Given the description of an element on the screen output the (x, y) to click on. 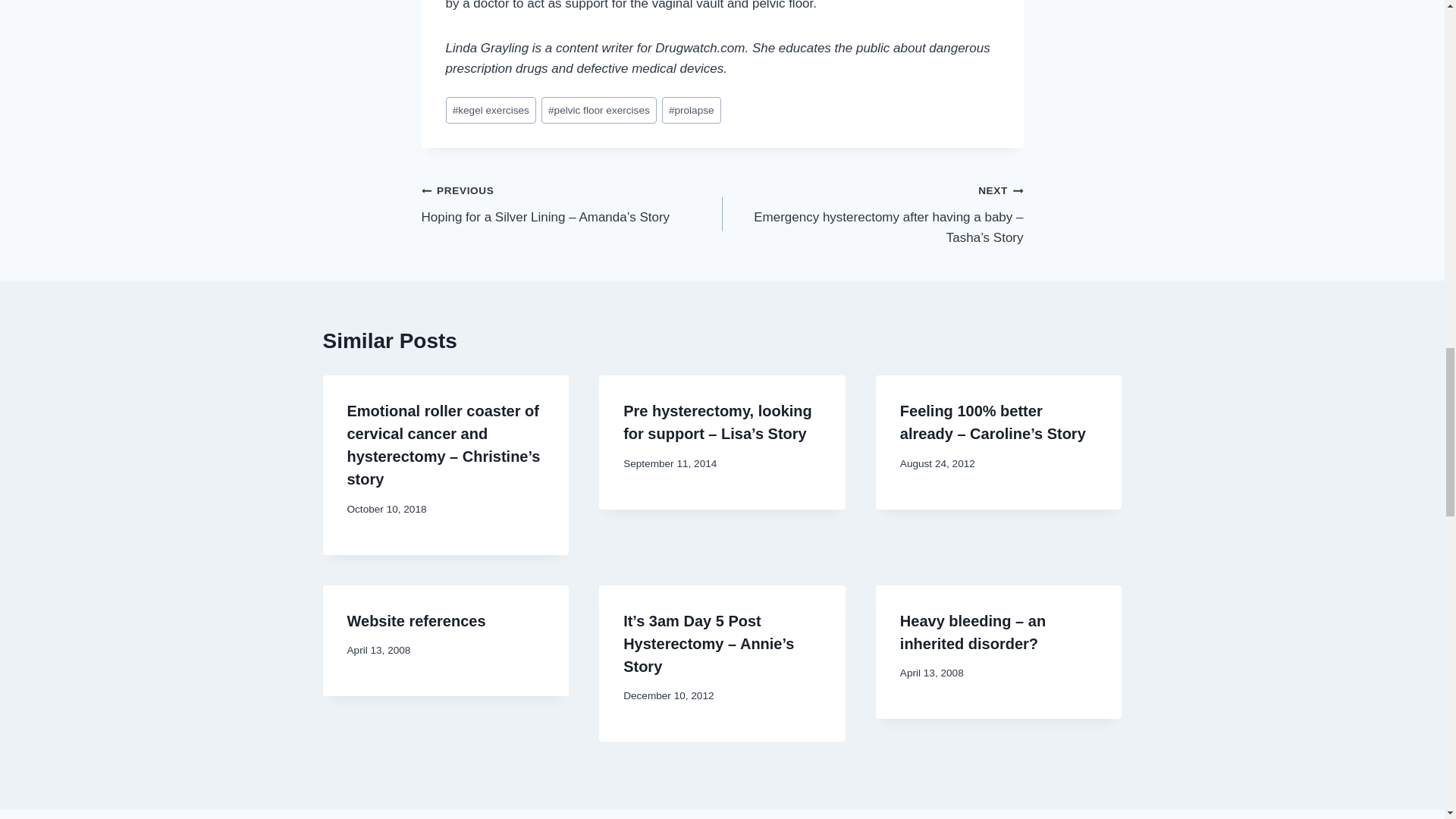
pelvic floor exercises (598, 110)
prolapse (691, 110)
kegel exercises (491, 110)
Website references (416, 620)
